Given the description of an element on the screen output the (x, y) to click on. 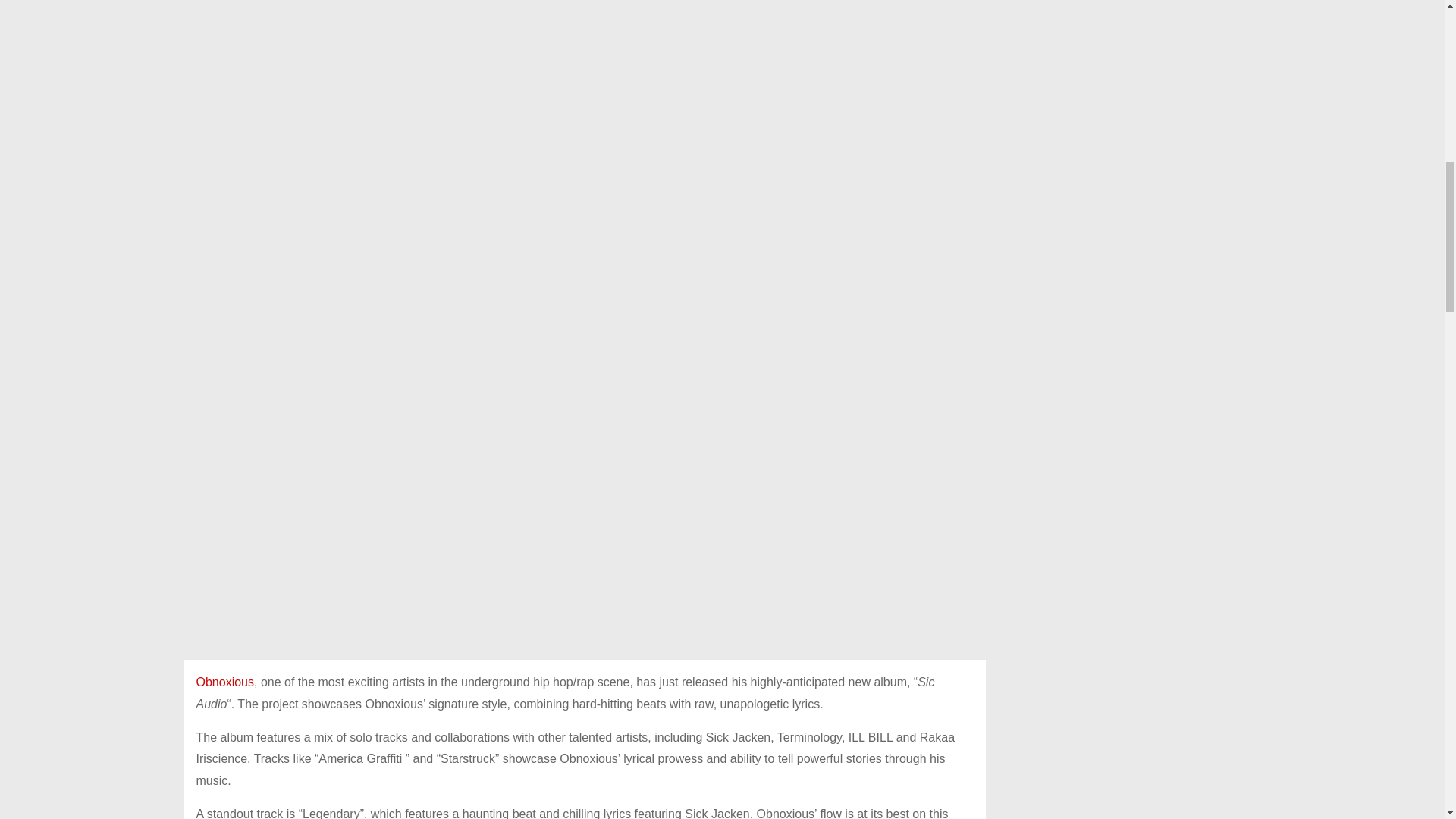
Obnoxious (224, 681)
